Given the description of an element on the screen output the (x, y) to click on. 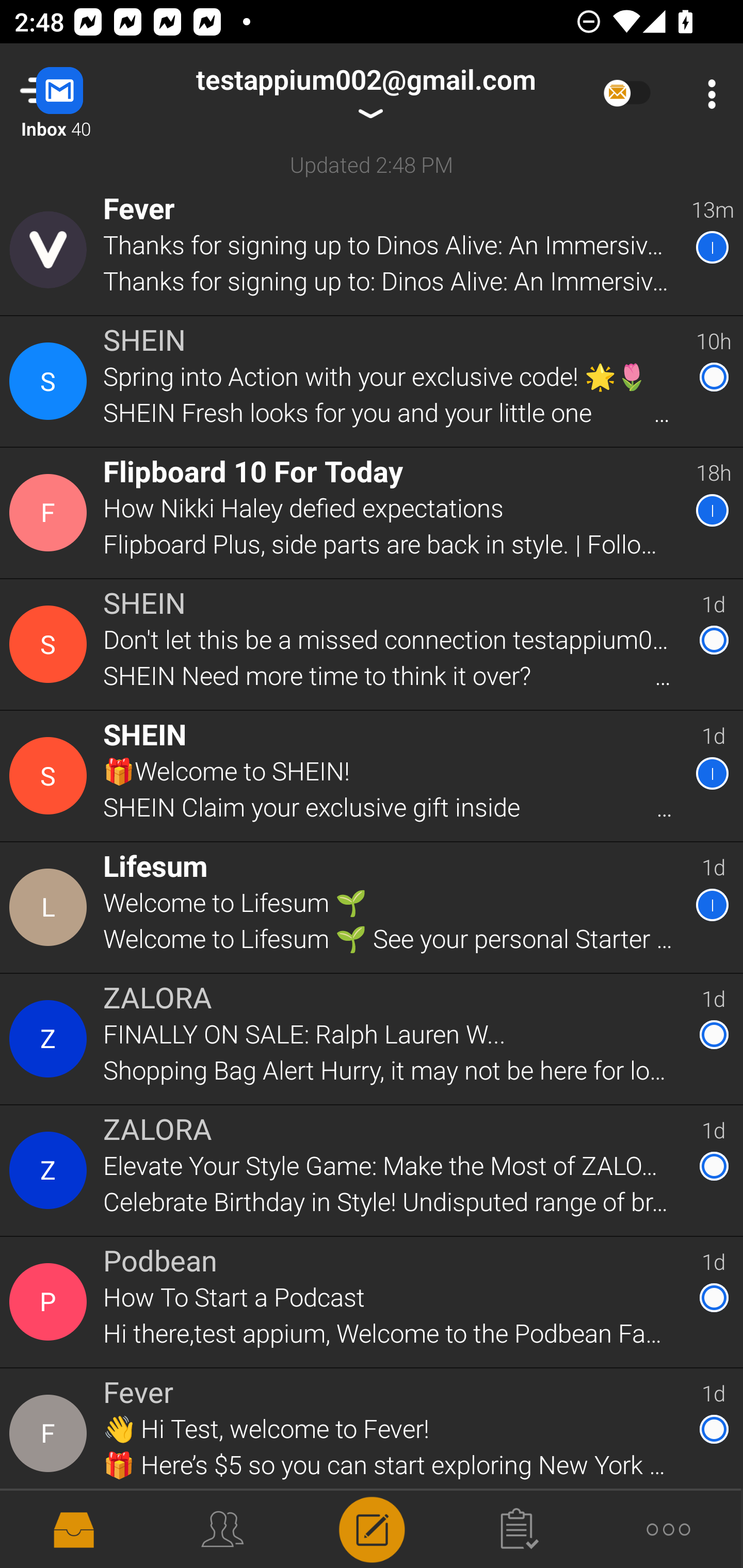
Navigate up (81, 93)
testappium002@gmail.com (365, 93)
More Options (706, 93)
Updated 2:48 PM (371, 164)
Contact Details (50, 250)
Contact Details (50, 381)
Contact Details (50, 513)
Contact Details (50, 644)
Contact Details (50, 776)
Contact Details (50, 907)
Contact Details (50, 1038)
Contact Details (50, 1170)
Contact Details (50, 1302)
Contact Details (50, 1433)
